Given the description of an element on the screen output the (x, y) to click on. 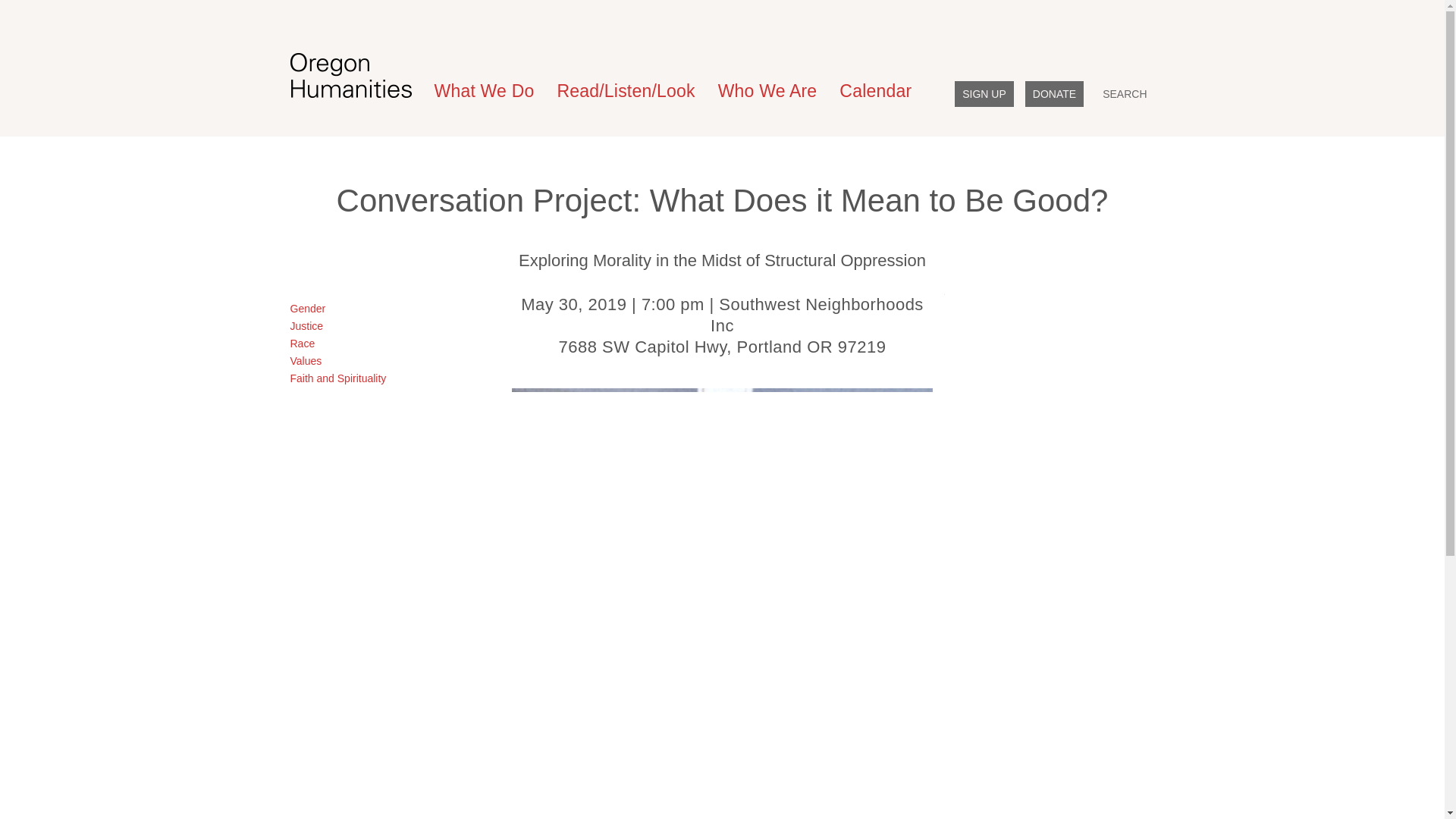
Calendar (875, 90)
Values (305, 360)
SEARCH (1124, 94)
Gender (306, 308)
Who We Are (767, 90)
SIGN UP (984, 94)
Justice (306, 326)
What We Do (484, 90)
Race (301, 343)
DONATE (1054, 94)
